Given the description of an element on the screen output the (x, y) to click on. 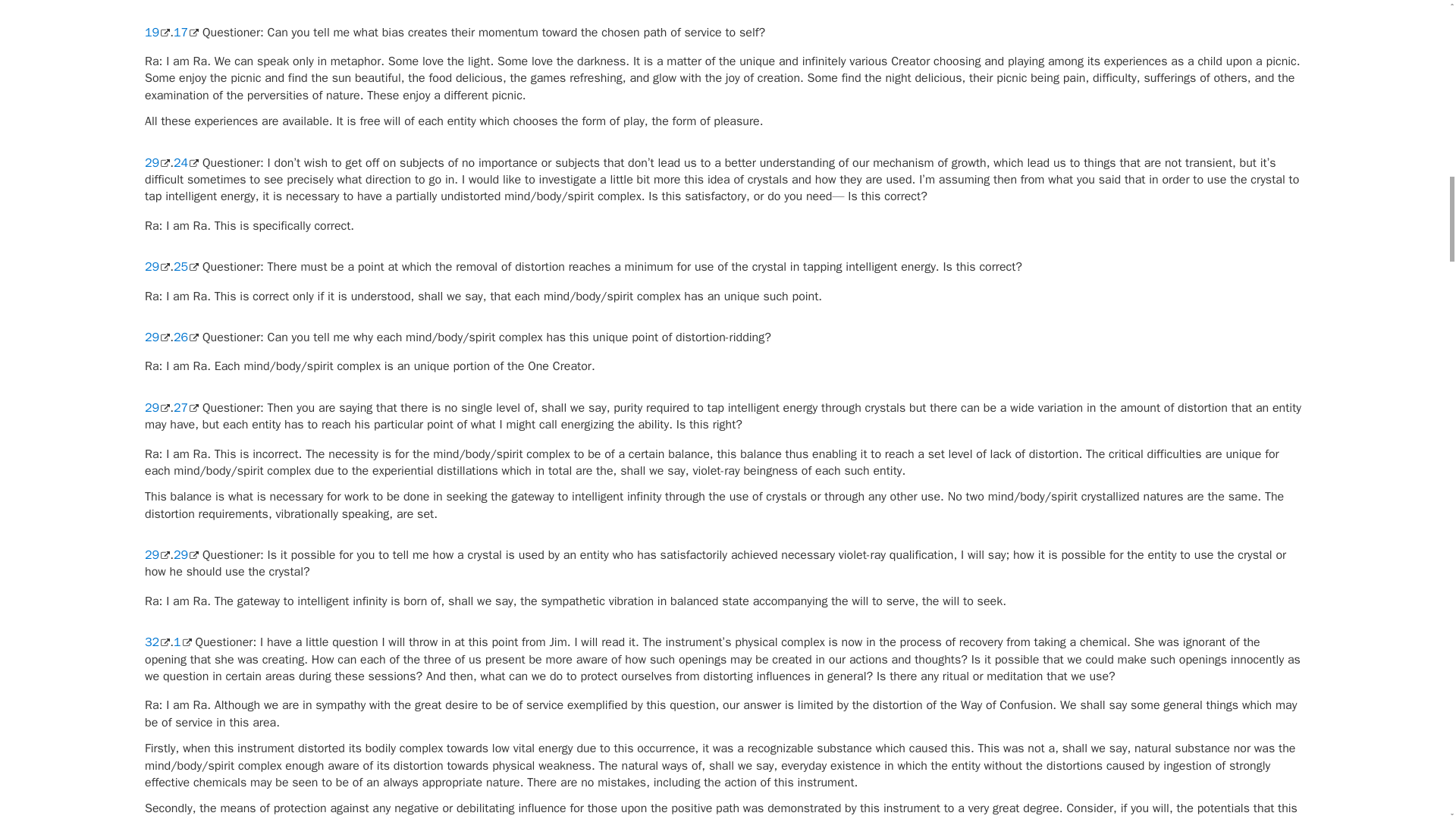
26 (185, 337)
19 (157, 32)
25 (185, 266)
29 (157, 266)
24 (185, 162)
17 (185, 32)
29 (157, 337)
29 (157, 162)
